Given the description of an element on the screen output the (x, y) to click on. 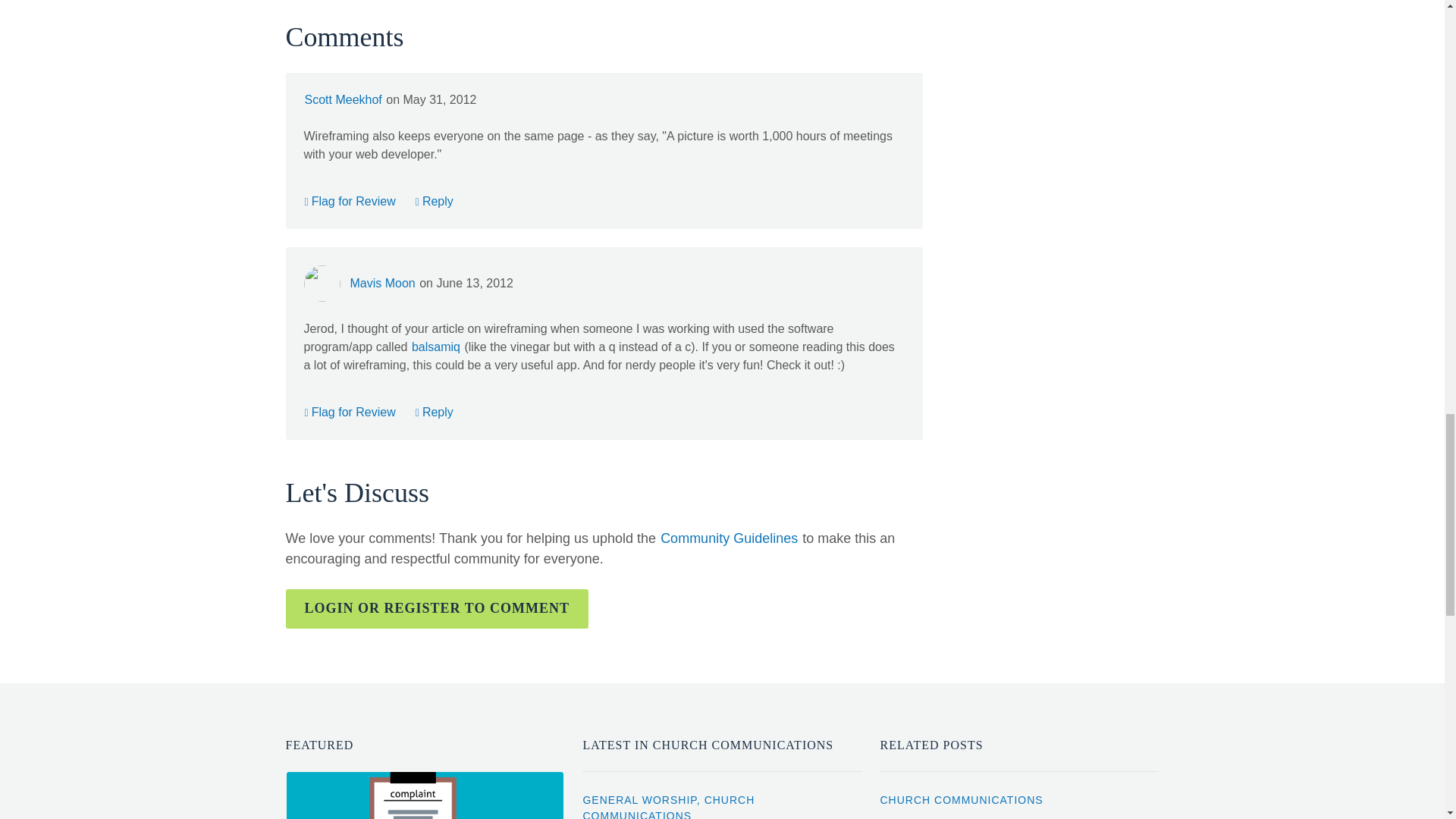
View user profile. (381, 283)
Reply (434, 411)
Mavis Moon (381, 283)
View user profile. (341, 99)
Scott Meekhof (341, 99)
Reply (434, 201)
Flag for Review (349, 201)
balsamiq  (437, 346)
Flag for Review (349, 411)
Community Guidelines (728, 538)
